Given the description of an element on the screen output the (x, y) to click on. 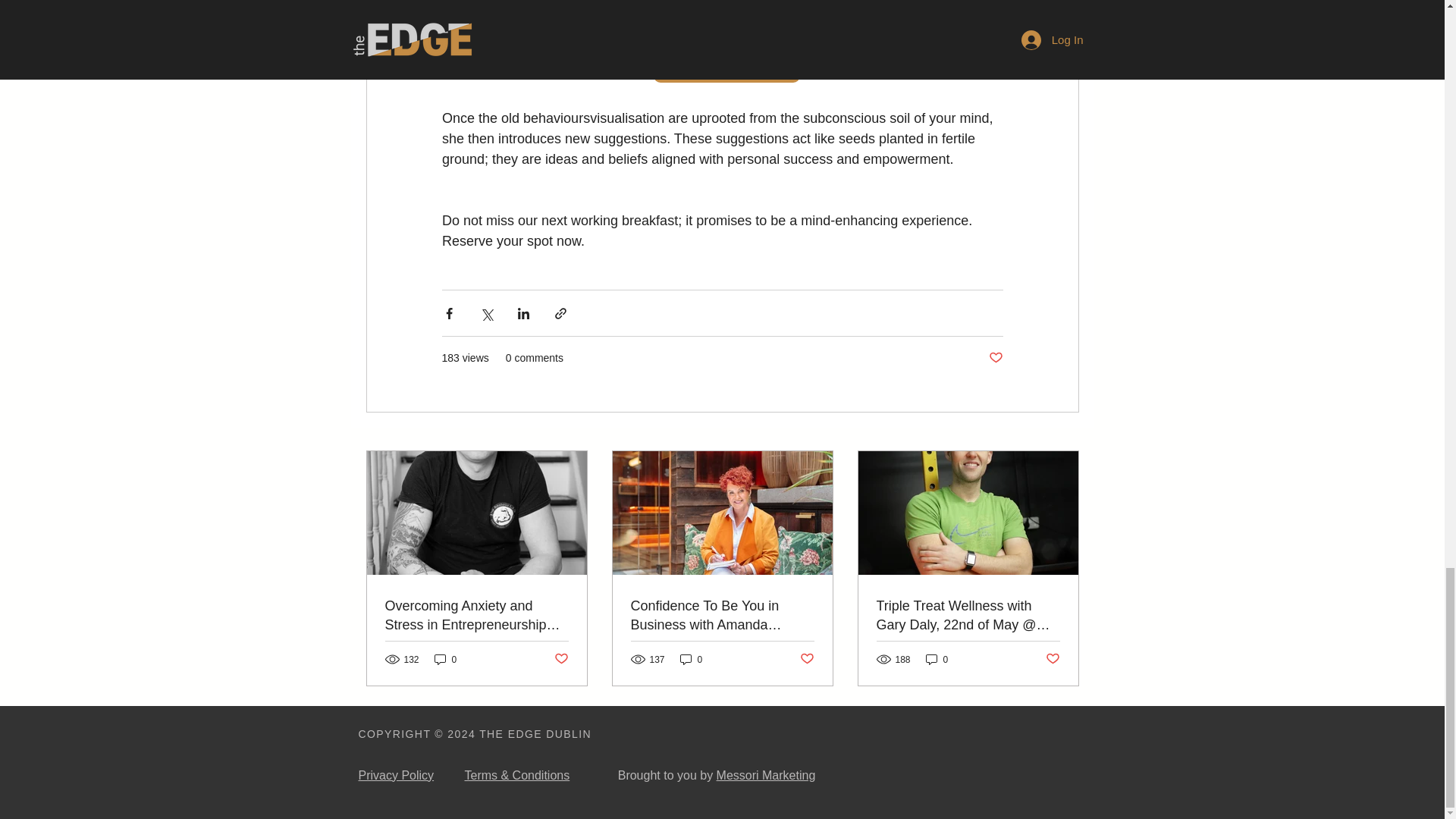
Messori Marketing (765, 775)
Post not marked as liked (560, 659)
Post not marked as liked (995, 358)
0 (445, 658)
Post not marked as liked (806, 659)
Post not marked as liked (1052, 659)
Reserve your seat (725, 65)
0 (937, 658)
Privacy Policy (395, 775)
0 (691, 658)
